Given the description of an element on the screen output the (x, y) to click on. 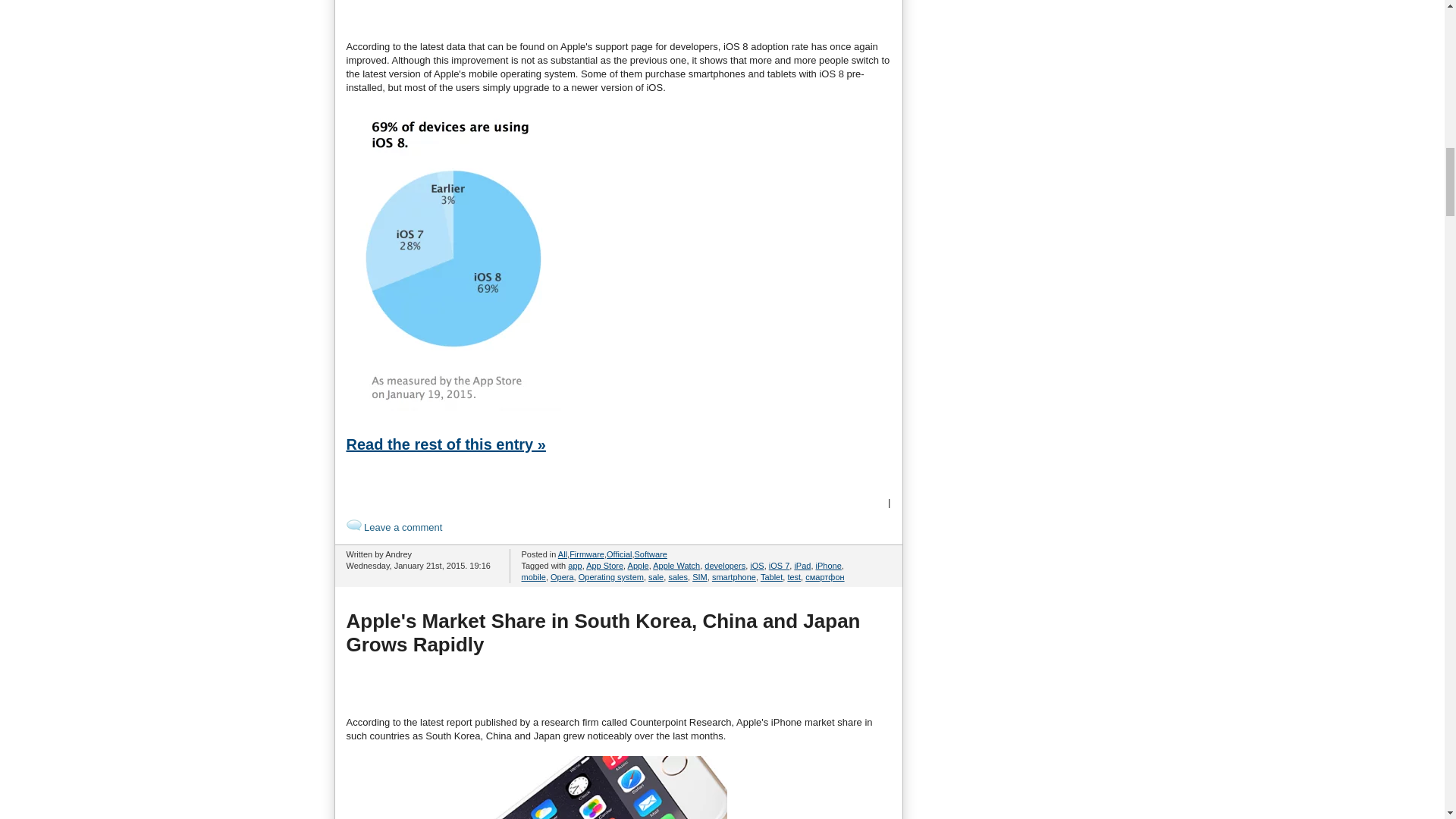
View all posts in Firmware (586, 553)
View all posts in All (562, 553)
View all posts in Software (650, 553)
View all posts in Official (619, 553)
